Given the description of an element on the screen output the (x, y) to click on. 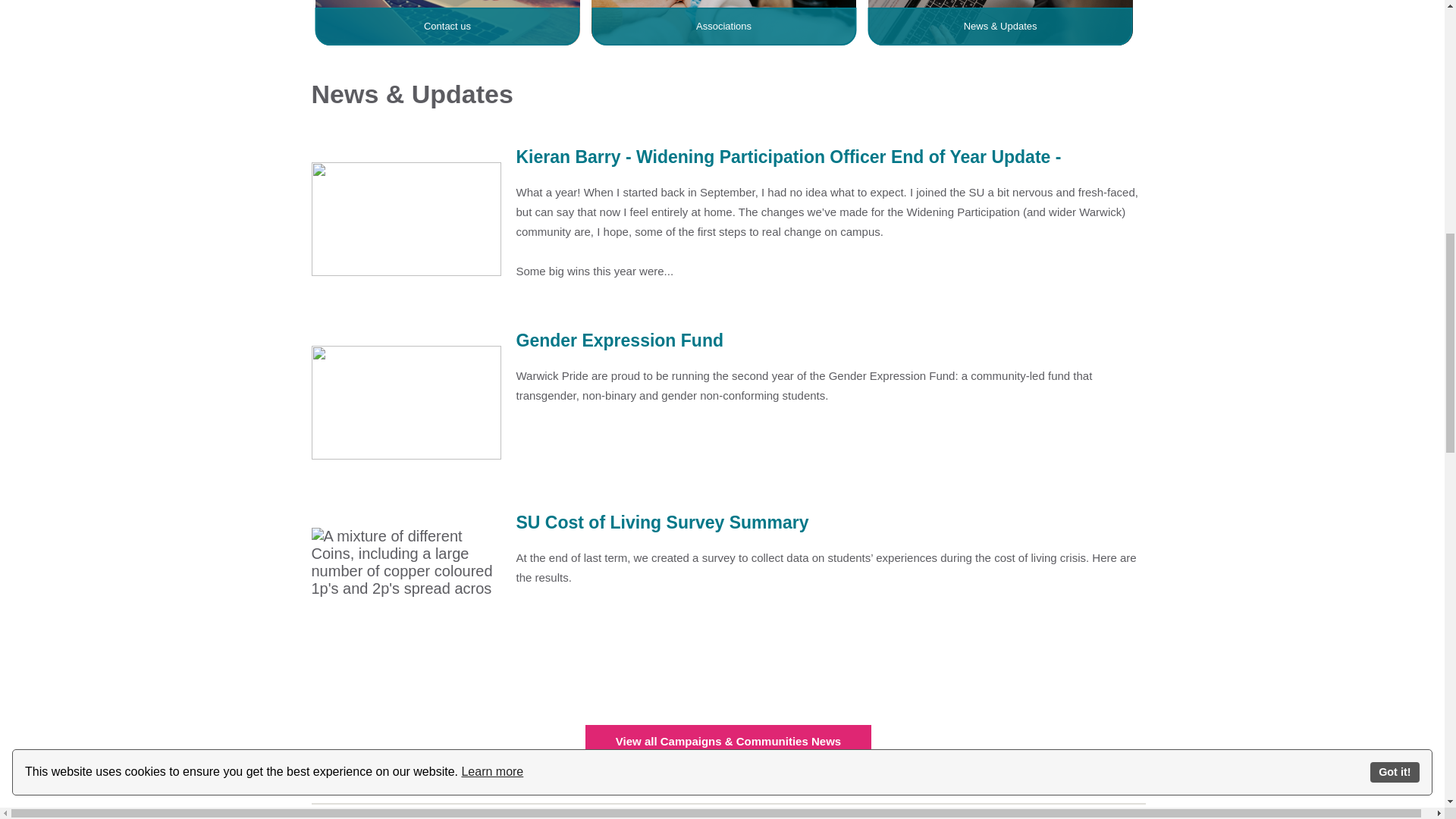
Gender Expression Fund (727, 340)
SU Cost of Living Survey Summary (727, 522)
